Given the description of an element on the screen output the (x, y) to click on. 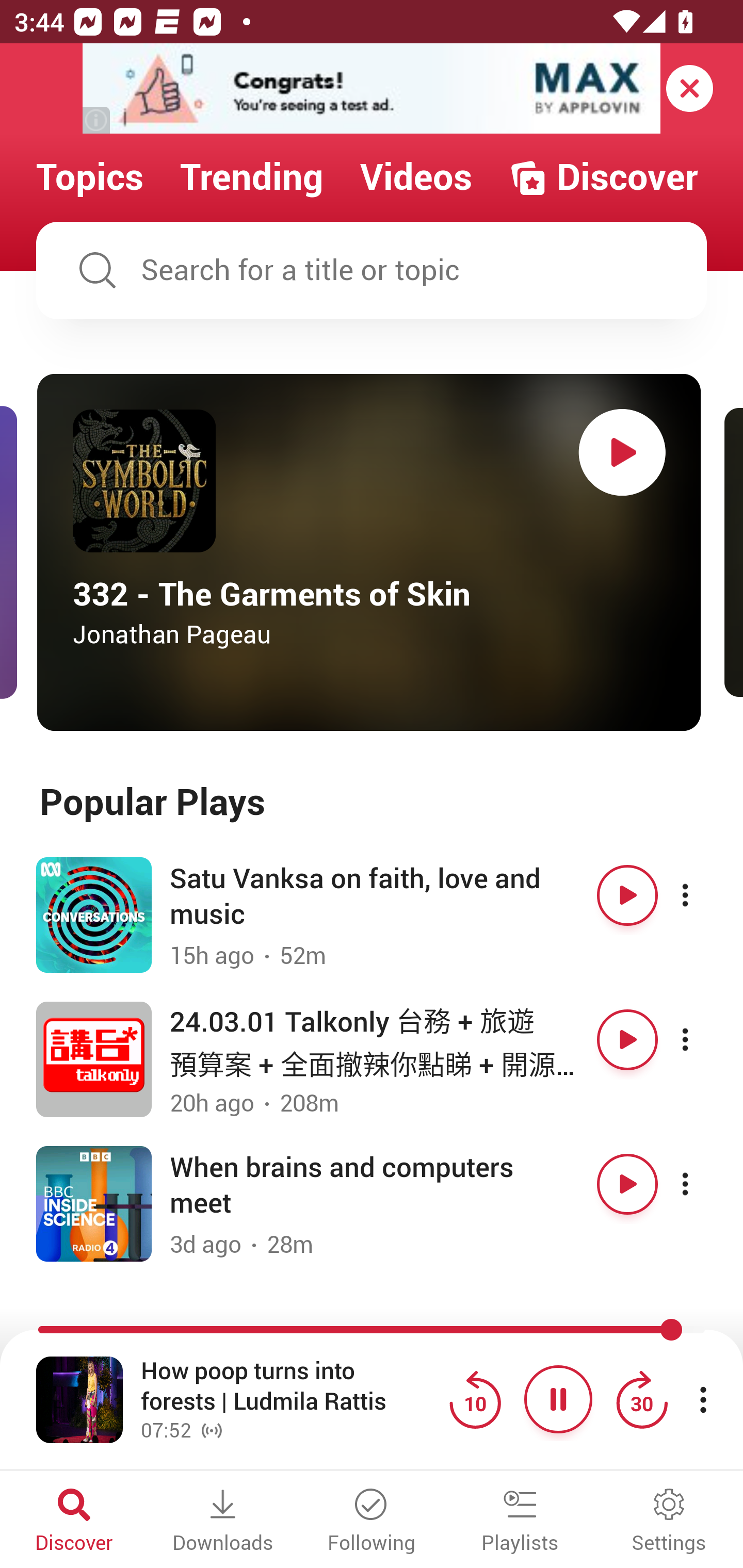
app-monetization (371, 88)
(i) (96, 119)
Topics (90, 177)
Trending (251, 177)
Videos (415, 177)
Discover (603, 177)
Search for a title or topic (371, 270)
Play button (621, 452)
Play button (627, 895)
More options (703, 895)
Play button (627, 1039)
More options (703, 1039)
Play button (627, 1184)
More options (703, 1184)
Recommended for You (371, 1331)
Open fullscreen player (79, 1399)
More player controls (703, 1399)
How poop turns into forests | Ludmila Rattis (290, 1385)
Pause button (558, 1398)
Jump back (475, 1399)
Jump forward (641, 1399)
Discover (74, 1521)
Downloads (222, 1521)
Following (371, 1521)
Playlists (519, 1521)
Settings (668, 1521)
